Given the description of an element on the screen output the (x, y) to click on. 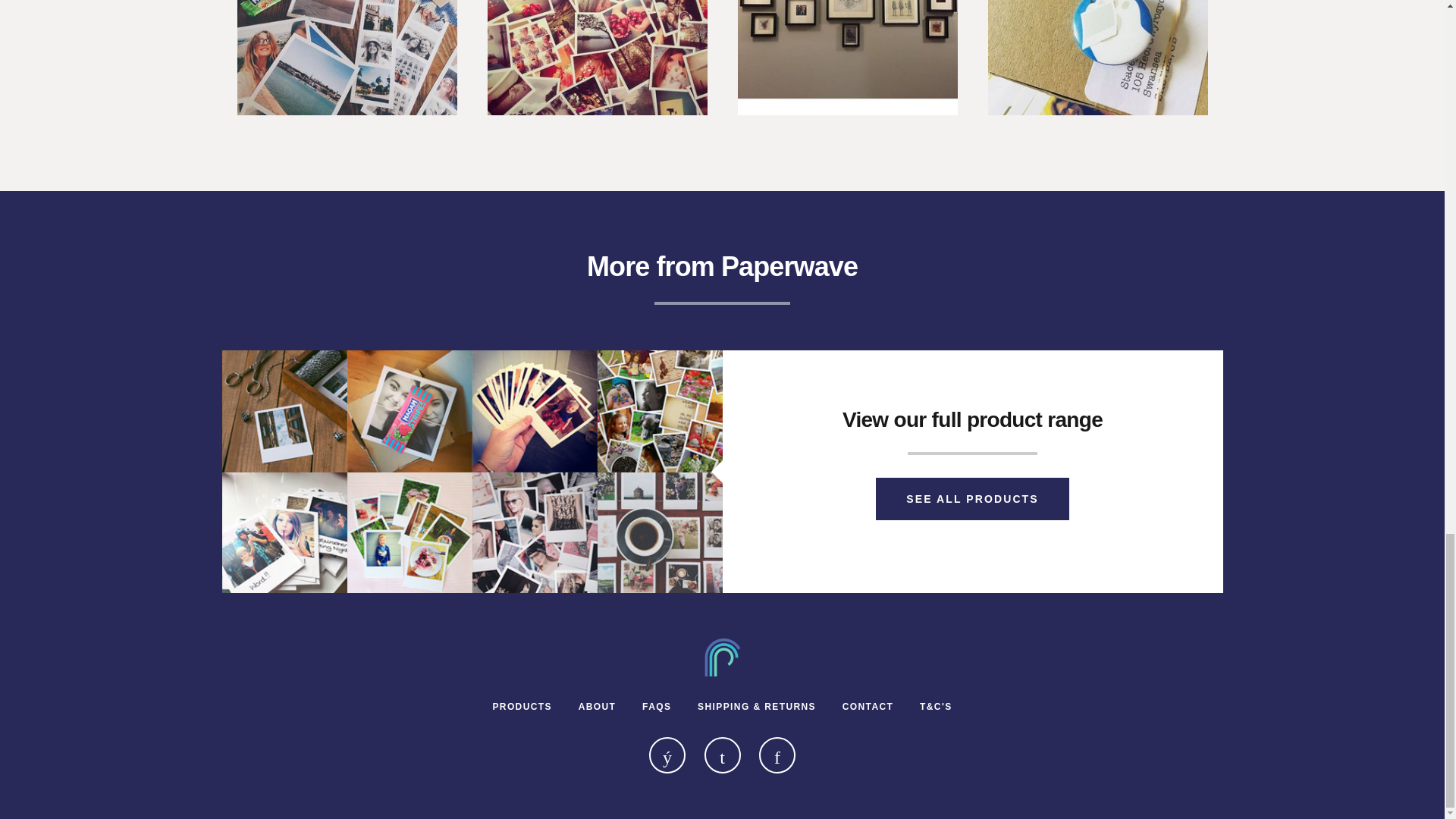
ABOUT (596, 706)
SEE ALL PRODUCTS (972, 498)
CONTACT (868, 706)
FAQS (656, 706)
PRODUCTS (521, 706)
